Given the description of an element on the screen output the (x, y) to click on. 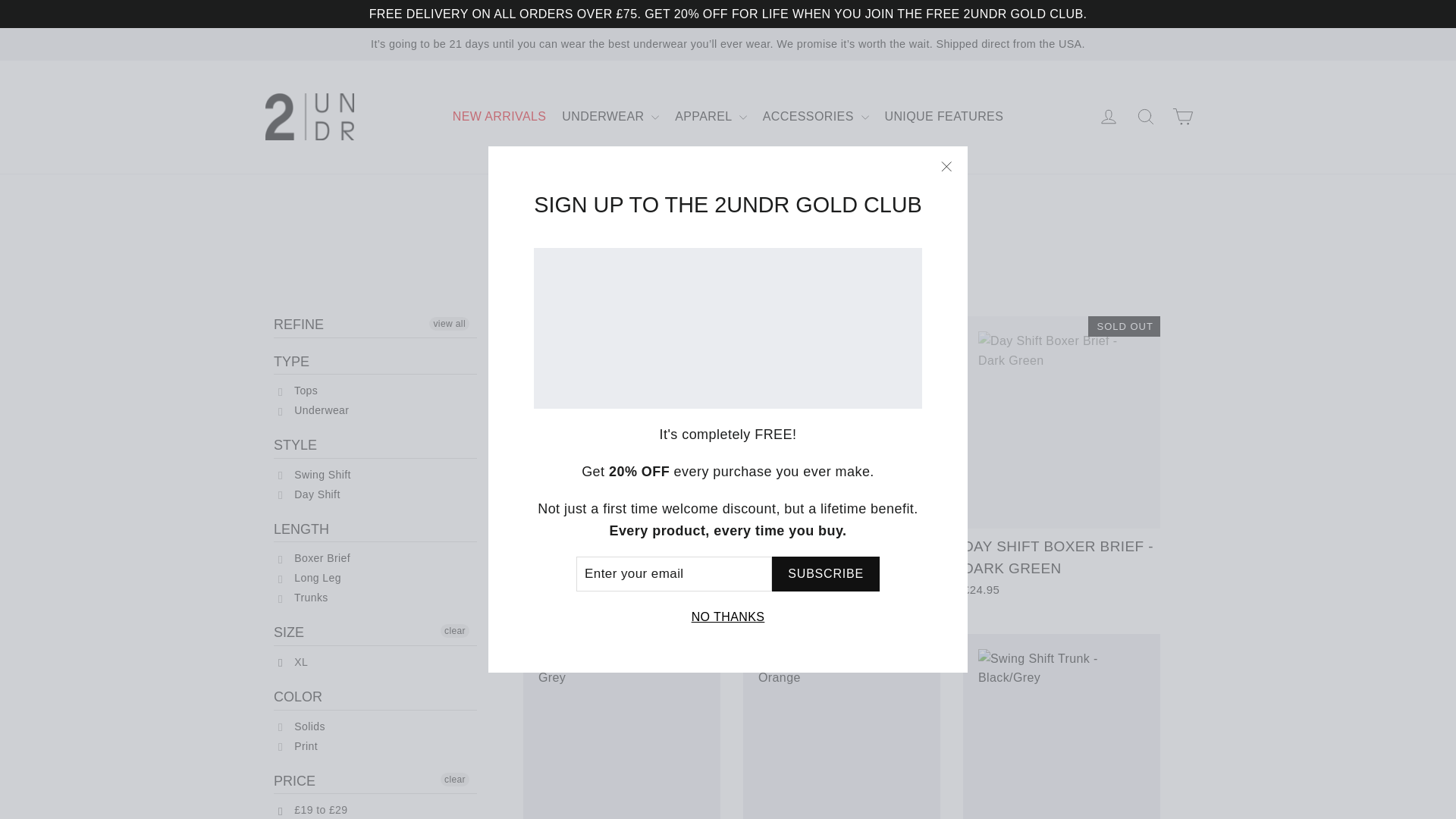
NO THANKS Element type: text (728, 616)
Skip to content Element type: text (0, 0)
SEARCH Element type: text (1145, 116)
Day Shift Element type: text (309, 494)
Trunks Element type: text (303, 597)
ACCESSORIES Element type: text (815, 116)
APPAREL Element type: text (710, 116)
NEW ARRIVALS Element type: text (499, 116)
LOG IN Element type: text (1108, 116)
Print Element type: text (297, 745)
clear Element type: text (454, 630)
clear Element type: text (454, 779)
UNDERWEAR Element type: text (610, 116)
view all Element type: text (449, 323)
Solids Element type: text (301, 726)
Underwear Element type: text (313, 409)
"Close (esc)" Element type: text (946, 167)
UNIQUE FEATURES Element type: text (943, 116)
Tops Element type: text (297, 390)
Swing Shift Element type: text (314, 474)
CART Element type: text (1182, 116)
Boxer Brief Element type: text (314, 557)
SUBSCRIBE Element type: text (825, 573)
XL Element type: text (292, 661)
Long Leg Element type: text (309, 577)
